Given the description of an element on the screen output the (x, y) to click on. 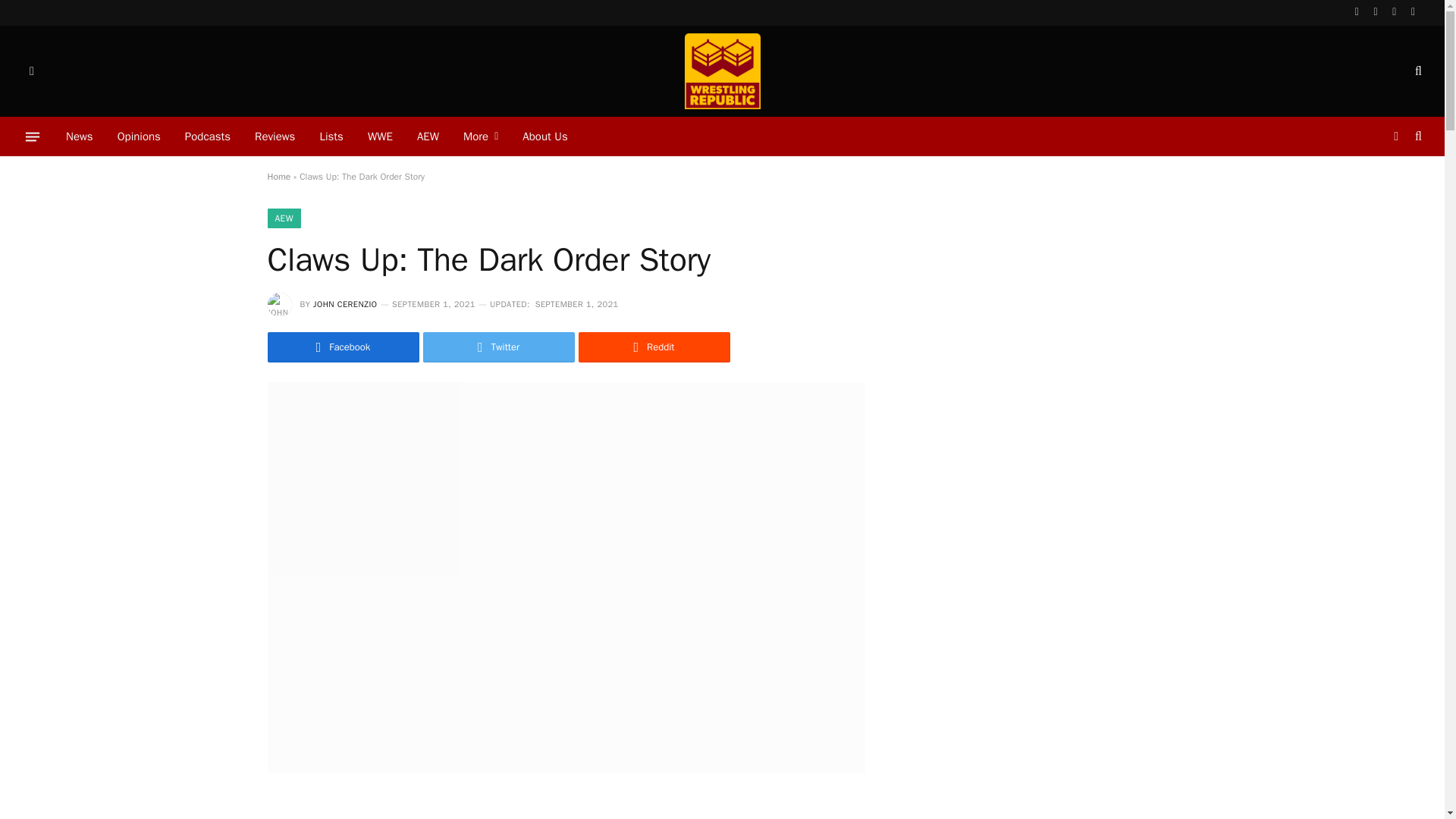
Podcasts (208, 136)
Reviews (275, 136)
More (481, 136)
About Us (545, 136)
Opinions (138, 136)
Posts by John Cerenzio (345, 303)
Wrestling Republic (721, 71)
WWE (379, 136)
Lists (331, 136)
Switch to Dark Design - easier on eyes. (30, 70)
